Given the description of an element on the screen output the (x, y) to click on. 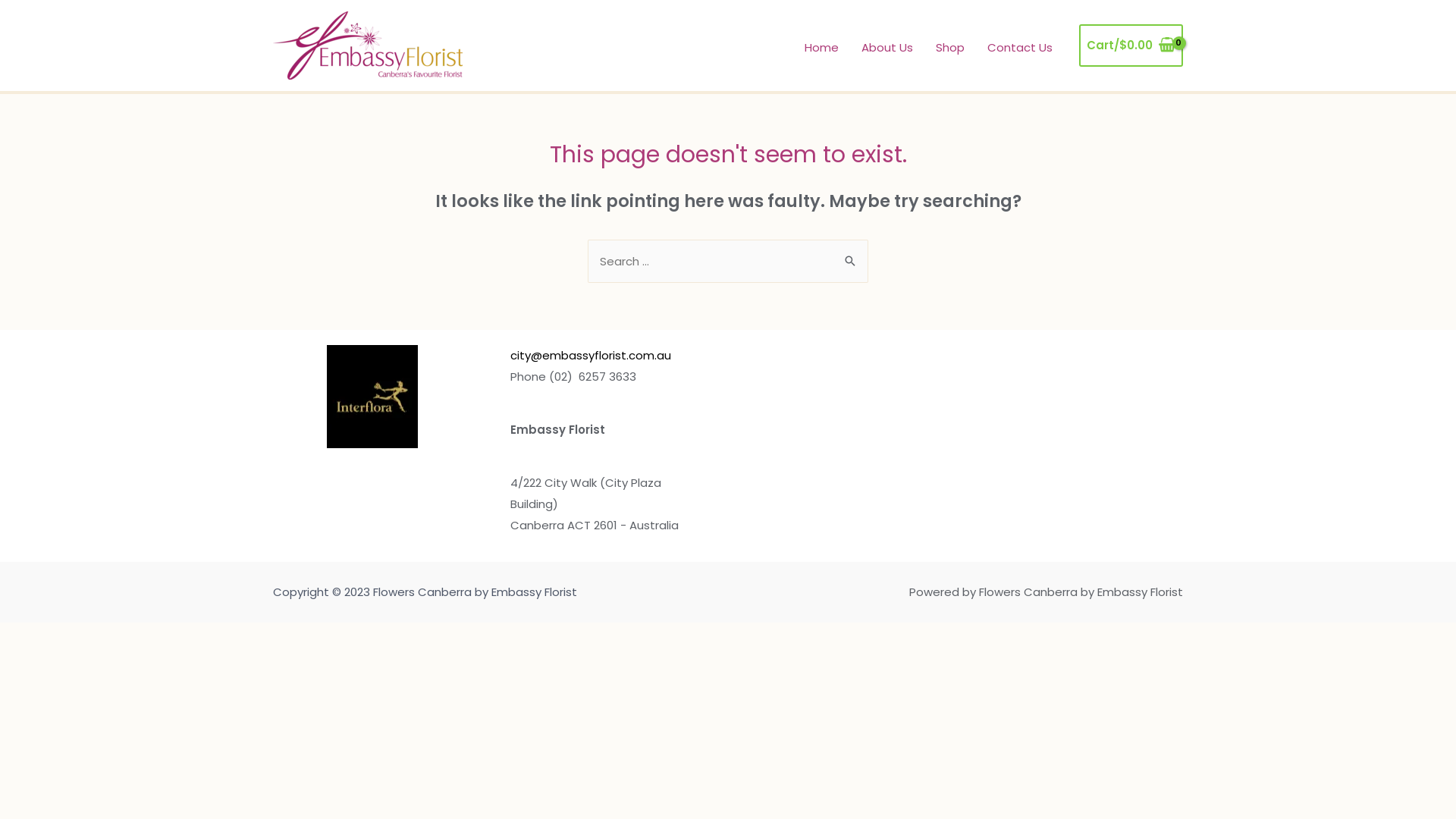
Easysoftonic Element type: text (0, 622)
Home Element type: text (821, 47)
Contact Us Element type: text (1019, 47)
About Us Element type: text (887, 47)
city@embassyflorist.com.au Element type: text (589, 355)
Cart/$0.00 Element type: text (1131, 45)
Search Element type: text (851, 253)
Shop Element type: text (949, 47)
